Given the description of an element on the screen output the (x, y) to click on. 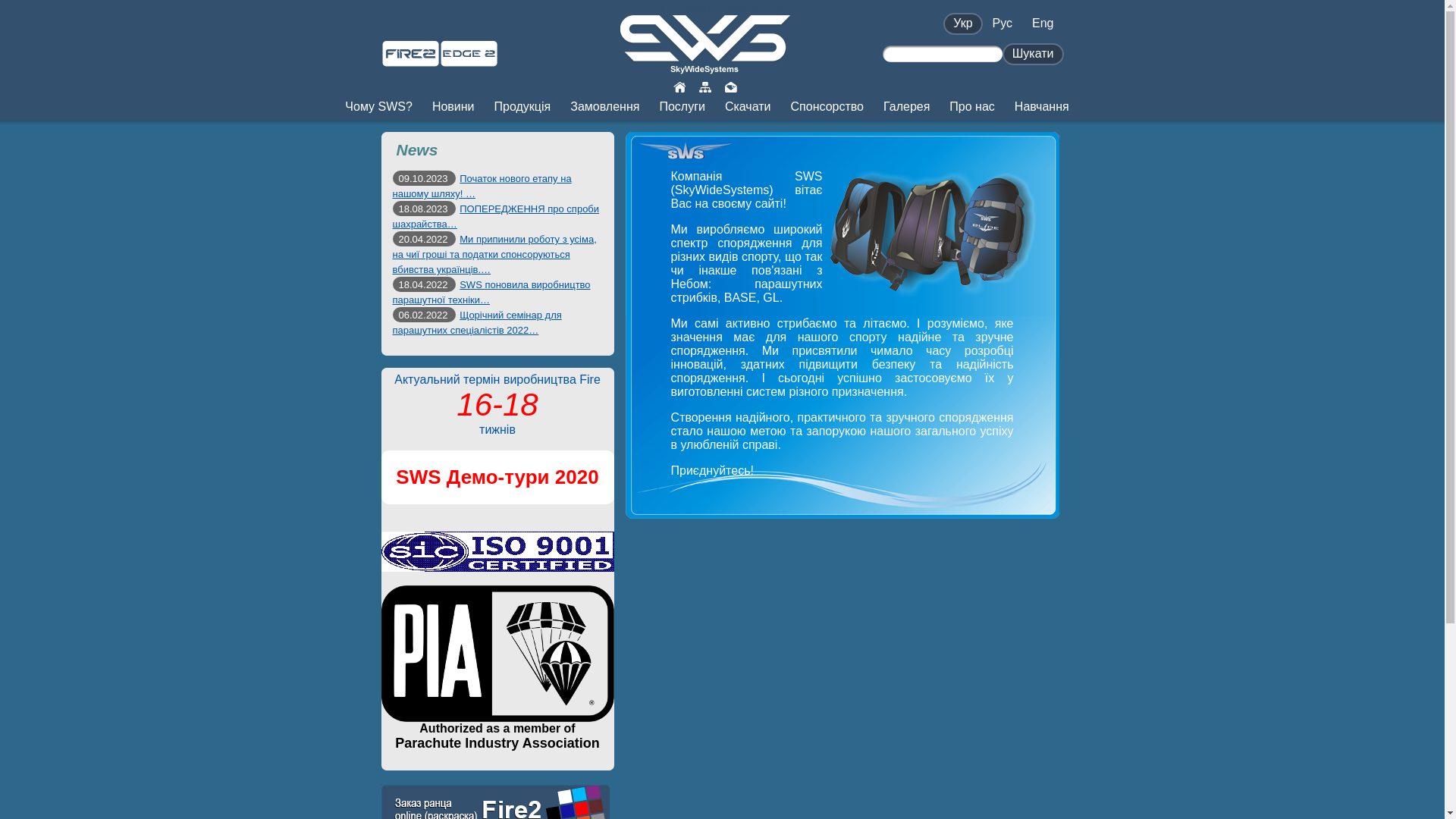
Eng Element type: text (1042, 22)
SWS Fire2 Element type: hover (409, 59)
SkyWideSystems Element type: hover (705, 67)
SWS Edge2 Element type: hover (468, 59)
